Given the description of an element on the screen output the (x, y) to click on. 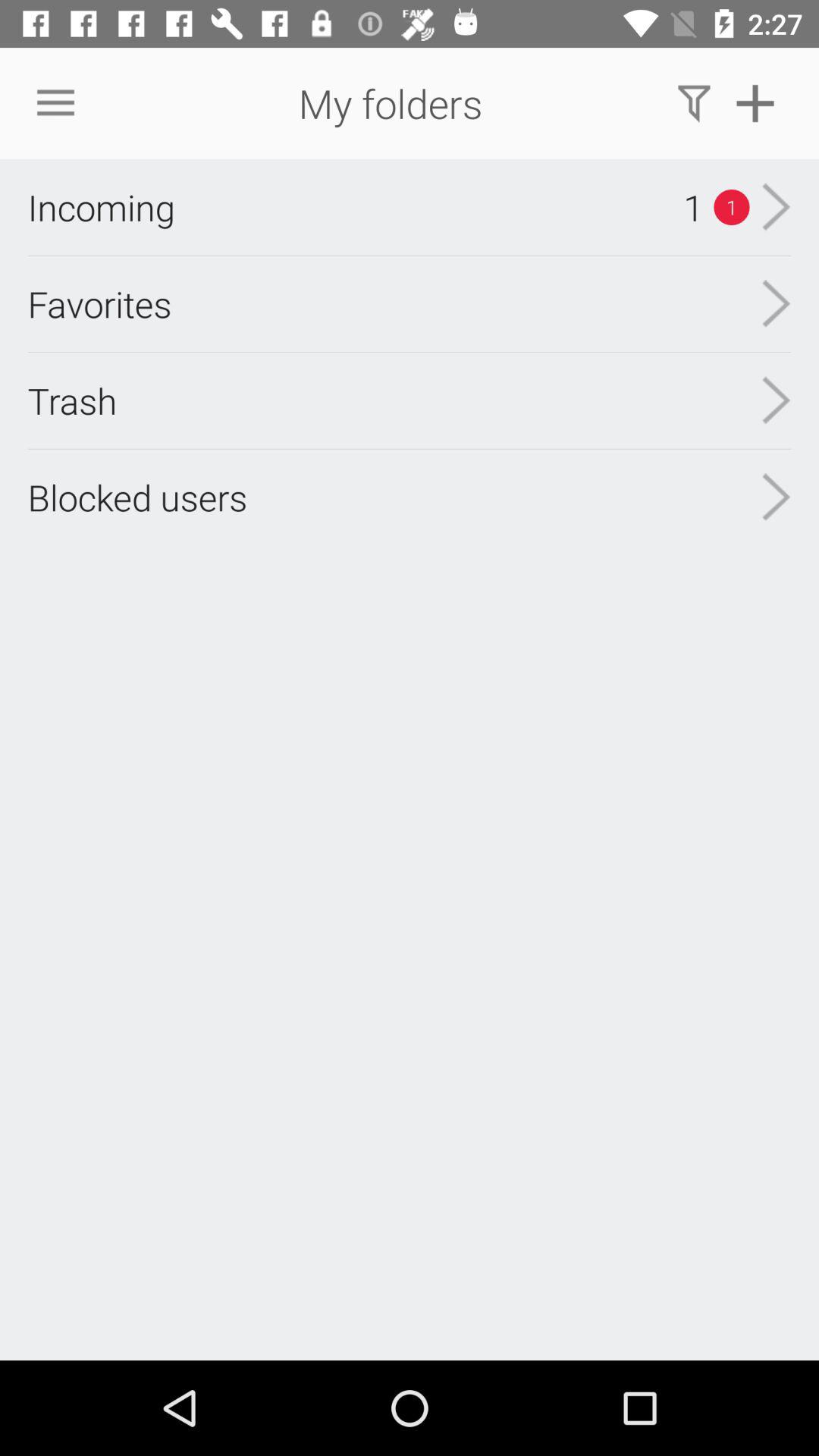
select icon to the left of 1 (101, 207)
